Given the description of an element on the screen output the (x, y) to click on. 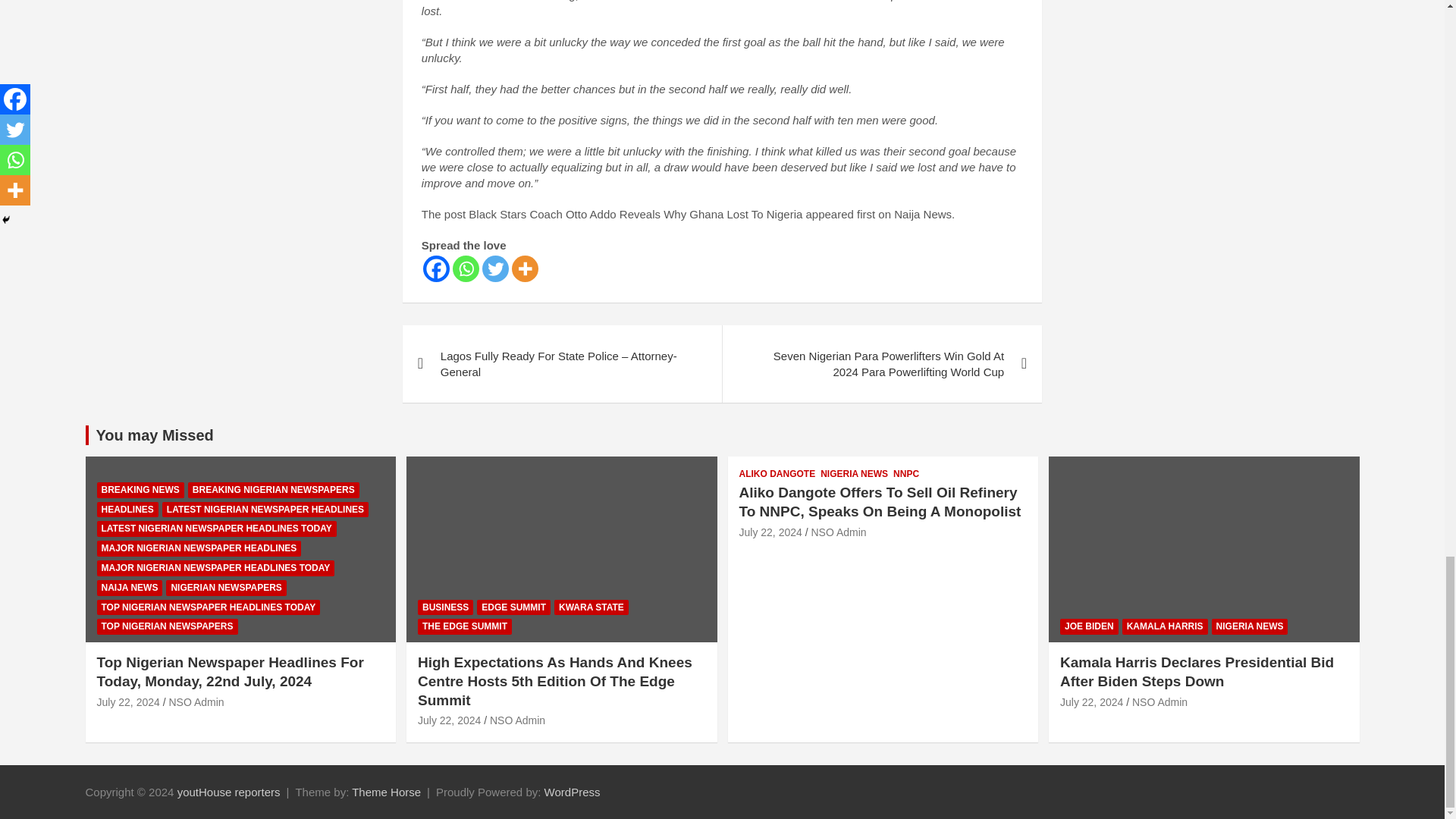
HEADLINES (127, 509)
NIGERIAN NEWSPAPERS (225, 587)
MAJOR NIGERIAN NEWSPAPER HEADLINES TODAY (215, 568)
LATEST NIGERIAN NEWSPAPER HEADLINES (264, 509)
Facebook (436, 268)
BREAKING NIGERIAN NEWSPAPERS (273, 489)
You may Missed (154, 434)
BREAKING NEWS (140, 489)
More (525, 268)
Twitter (494, 268)
NAIJA NEWS (130, 587)
LATEST NIGERIAN NEWSPAPER HEADLINES TODAY (216, 528)
